Given the description of an element on the screen output the (x, y) to click on. 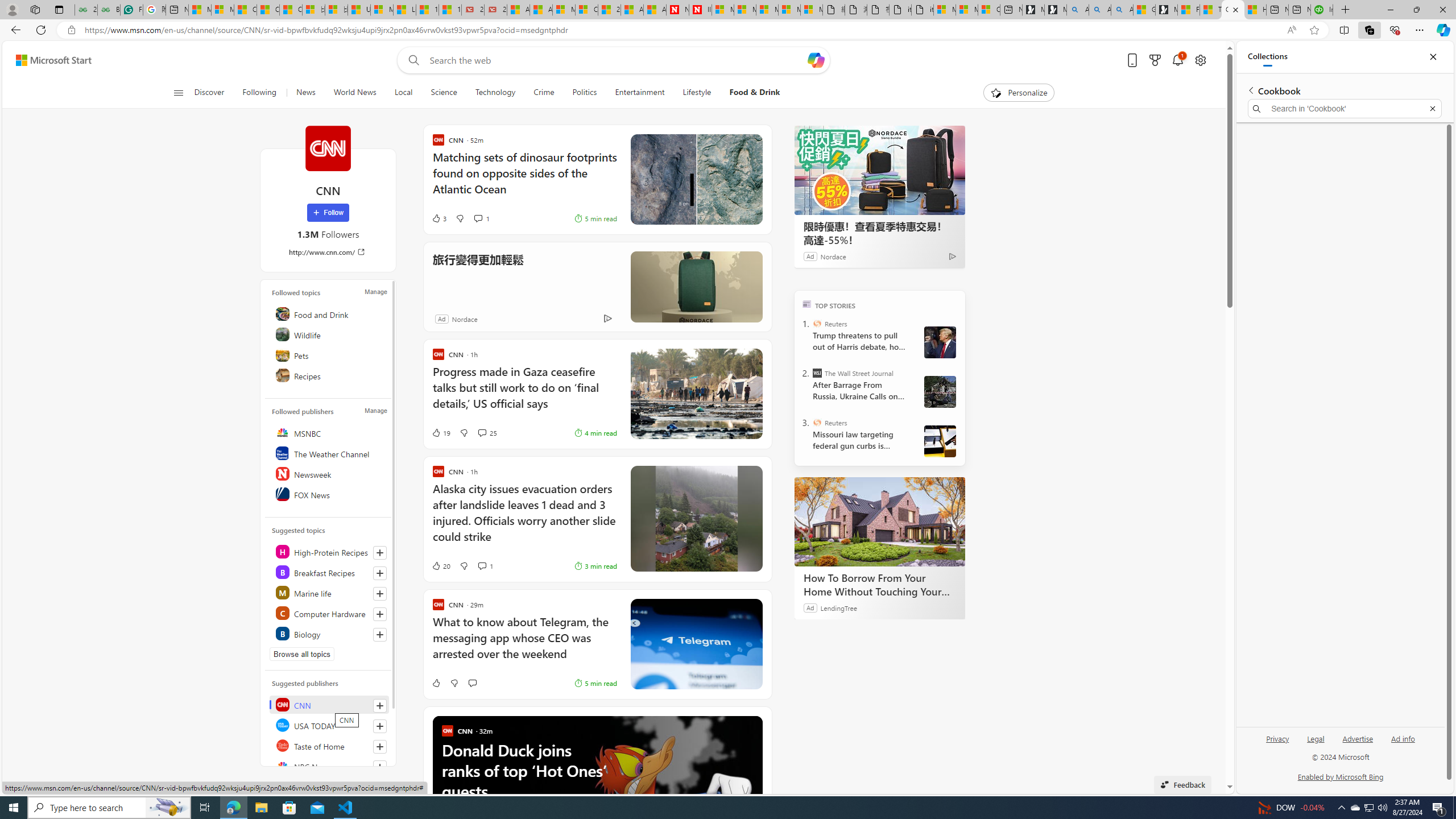
View comments 1 Comment (481, 565)
Science (443, 92)
Follow this topic (379, 634)
NBC News (328, 765)
Legal (1315, 738)
Food and Drink - MSN (1188, 9)
15 Ways Modern Life Contradicts the Teachings of Jesus (449, 9)
Illness news & latest pictures from Newsweek.com (700, 9)
Entertainment (639, 92)
25 Basic Linux Commands For Beginners - GeeksforGeeks (85, 9)
Search in 'Cookbook' (1345, 108)
itconcepthk.com/projector_solutions.mp4 (923, 9)
